Given the description of an element on the screen output the (x, y) to click on. 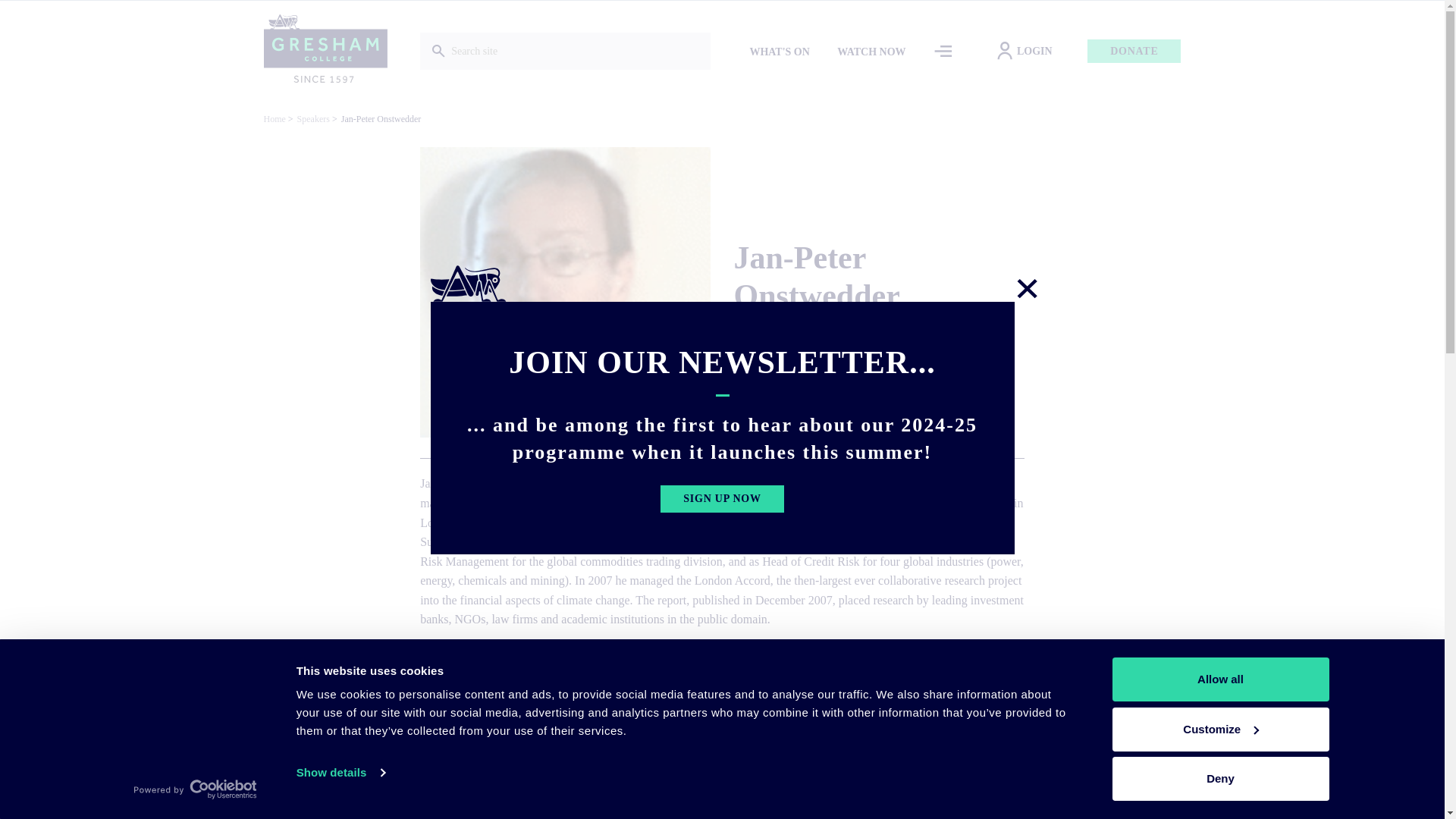
Deny (1219, 778)
Show details (340, 772)
Home (325, 50)
